Given the description of an element on the screen output the (x, y) to click on. 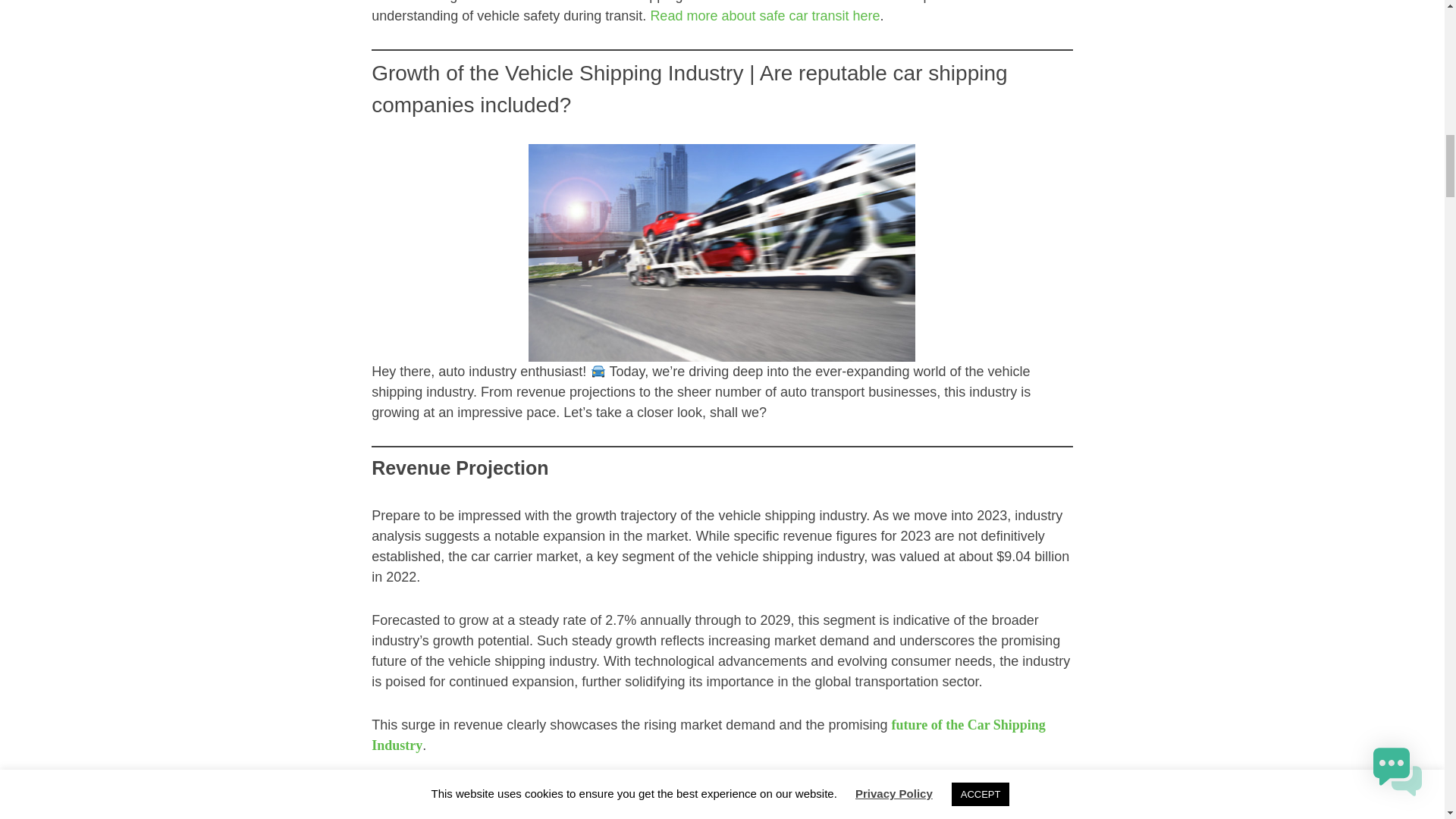
future of the Car Shipping Industry (708, 734)
Read more about safe car transit here (764, 15)
